Given the description of an element on the screen output the (x, y) to click on. 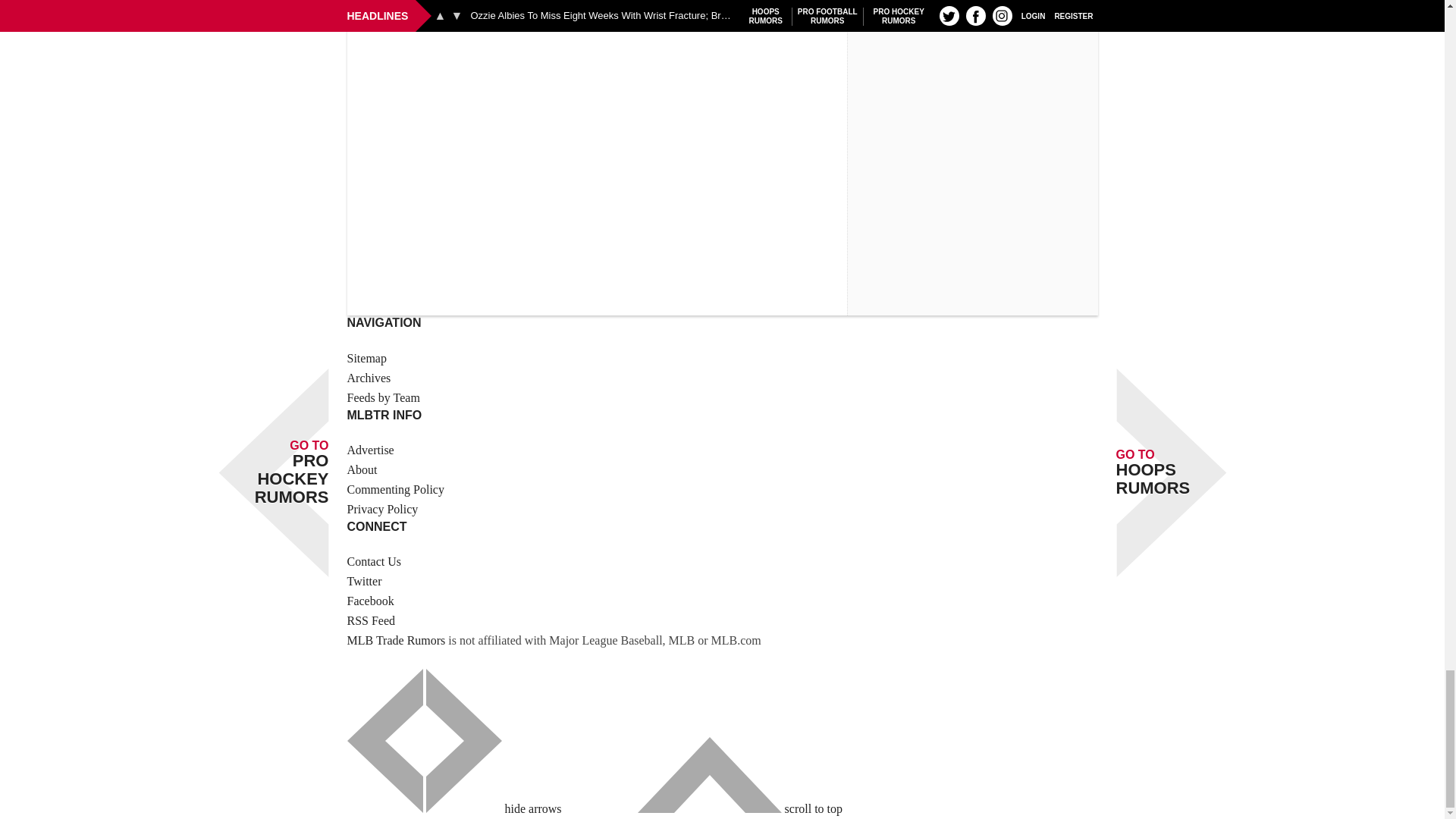
MLB Trade Rumors (396, 640)
